Given the description of an element on the screen output the (x, y) to click on. 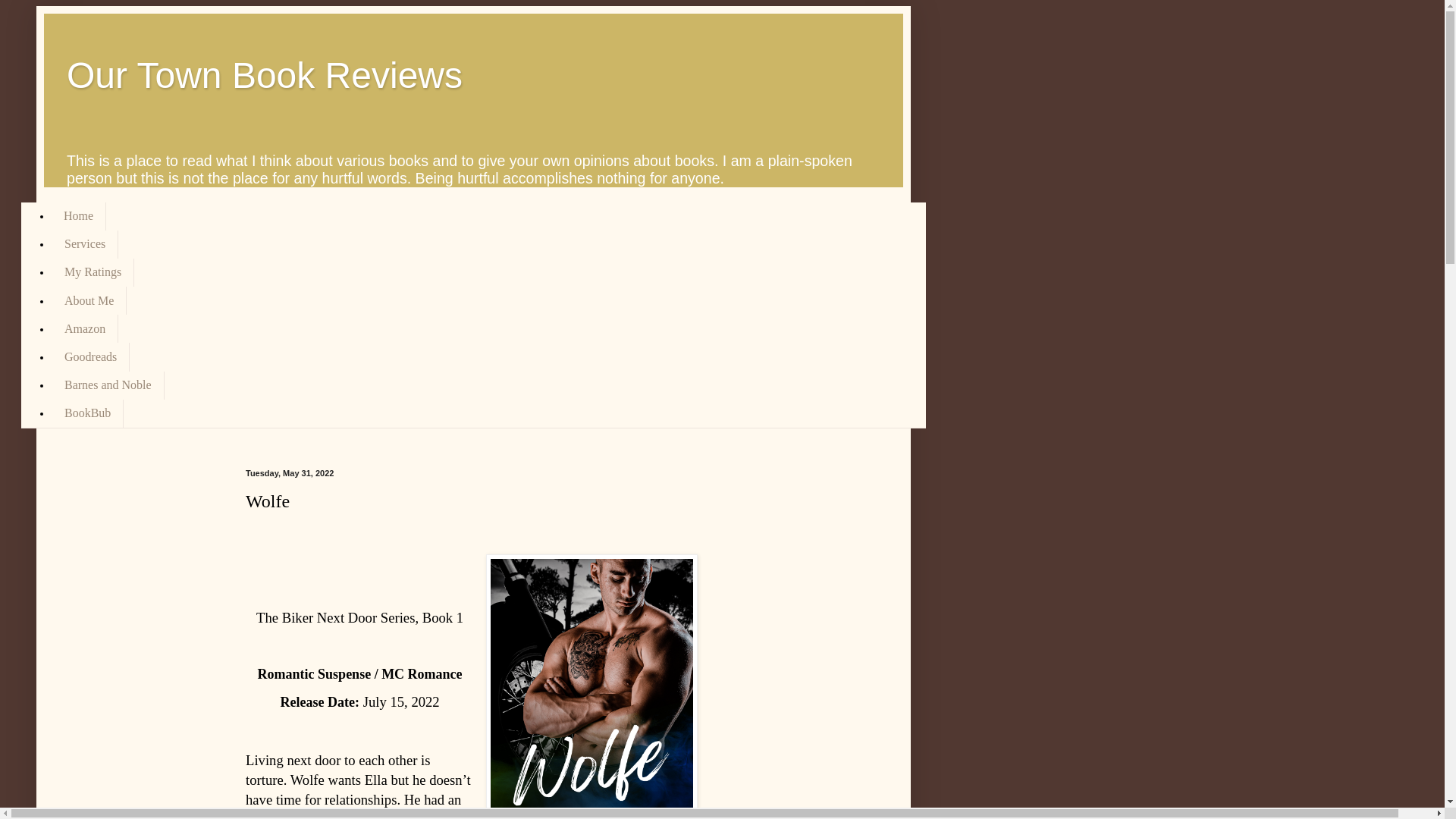
Barnes and Noble (107, 385)
BookBub (86, 413)
Services (83, 244)
Goodreads (89, 357)
Amazon (83, 328)
Our Town Book Reviews (264, 75)
Home (78, 215)
About Me (88, 300)
My Ratings (91, 272)
